Given the description of an element on the screen output the (x, y) to click on. 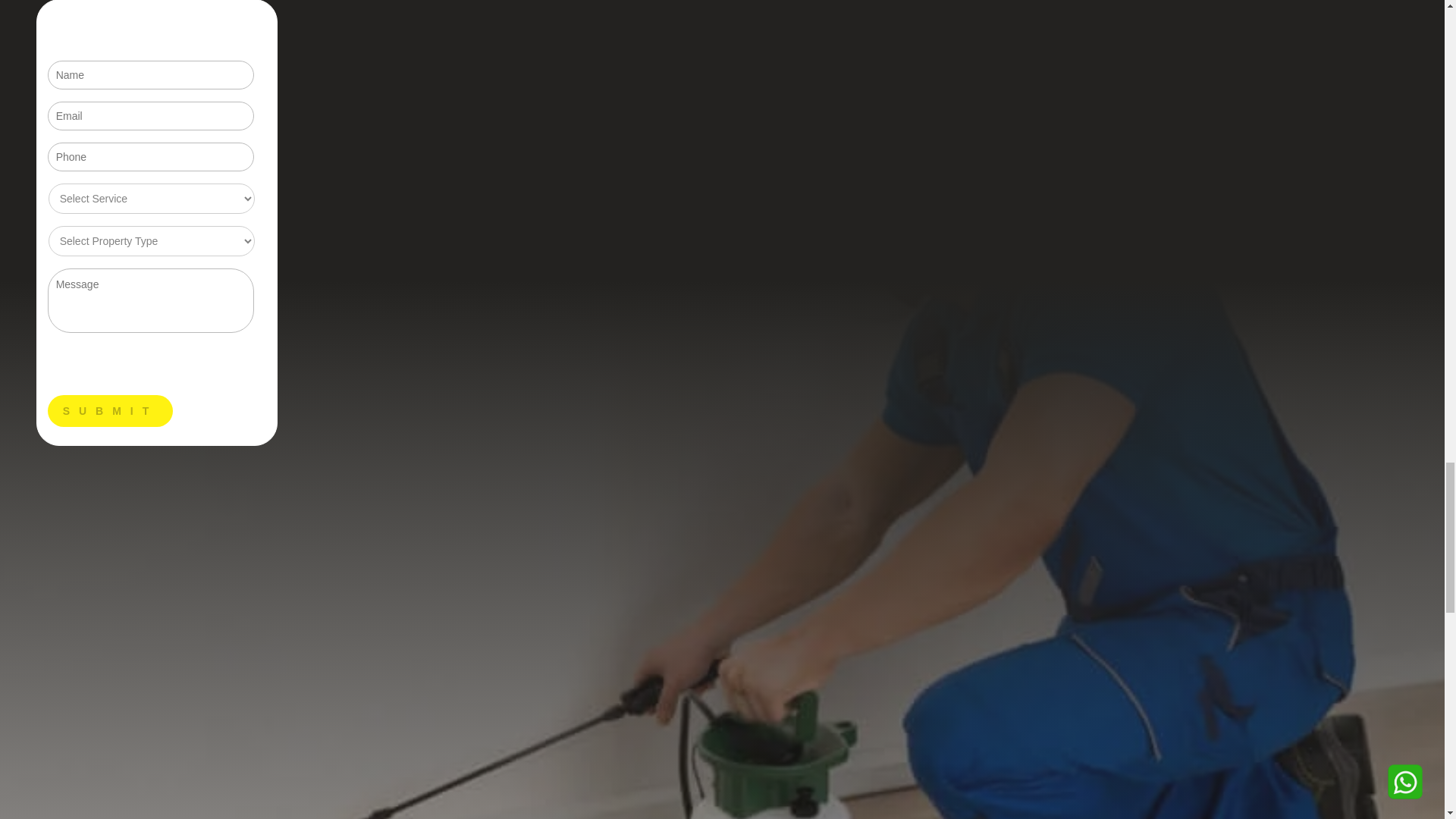
Submit (110, 410)
